Given the description of an element on the screen output the (x, y) to click on. 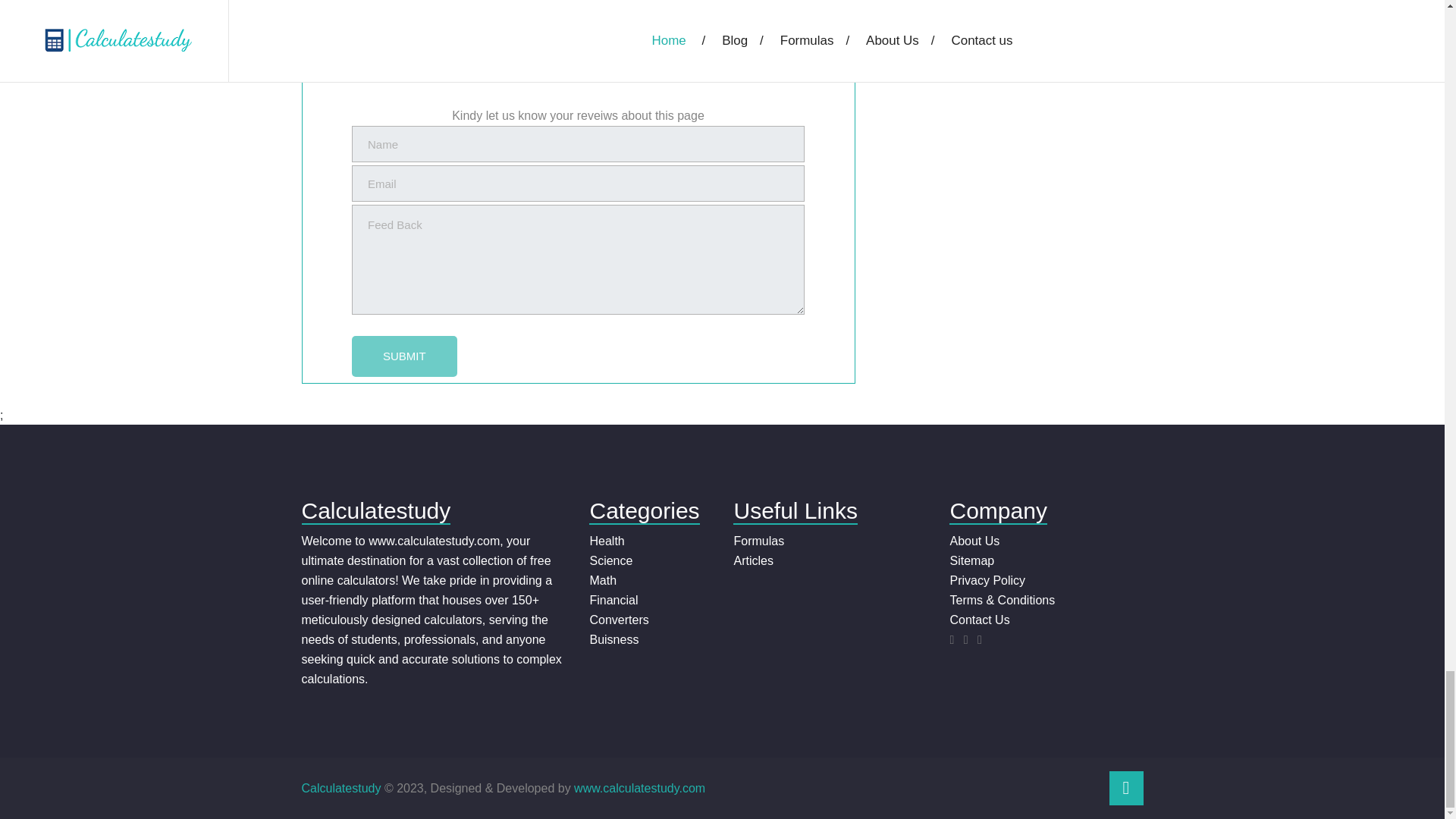
Health (606, 540)
Science (610, 560)
Math (602, 580)
SUBMIT (404, 356)
